Given the description of an element on the screen output the (x, y) to click on. 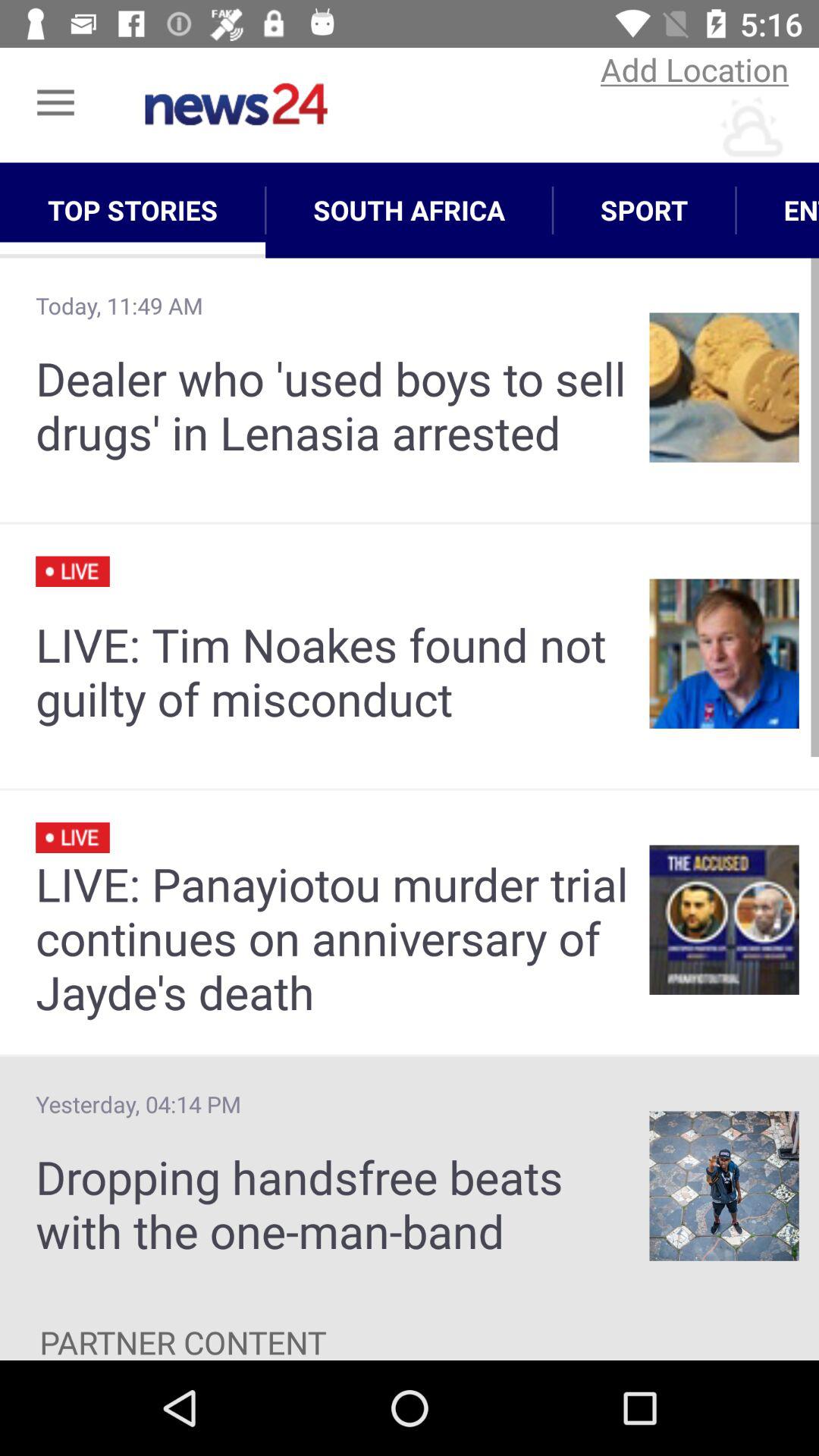
swipe to sport icon (643, 210)
